Given the description of an element on the screen output the (x, y) to click on. 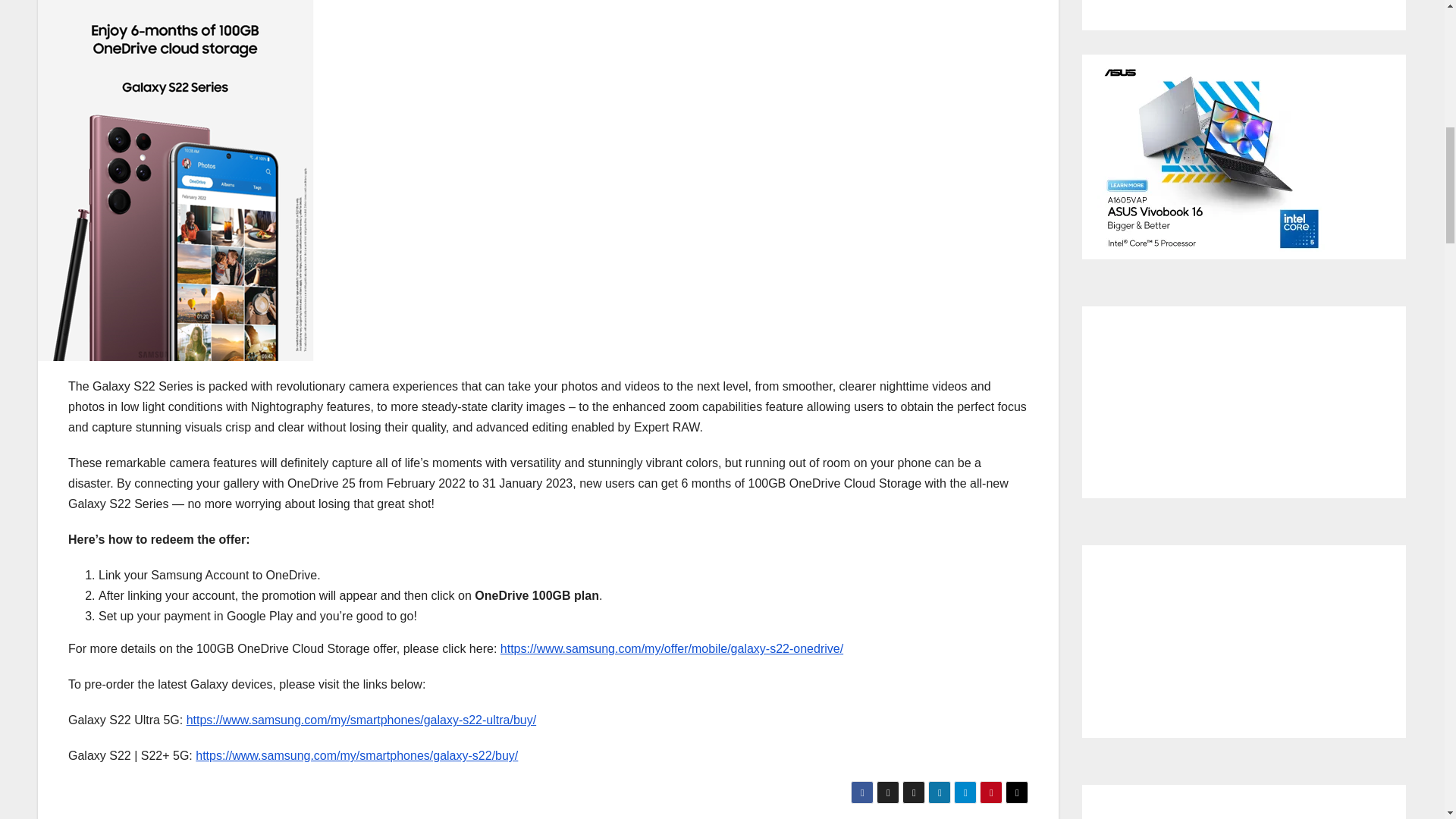
HONOR Magic V2 Unboxing and Simple Overview (1243, 388)
